Given the description of an element on the screen output the (x, y) to click on. 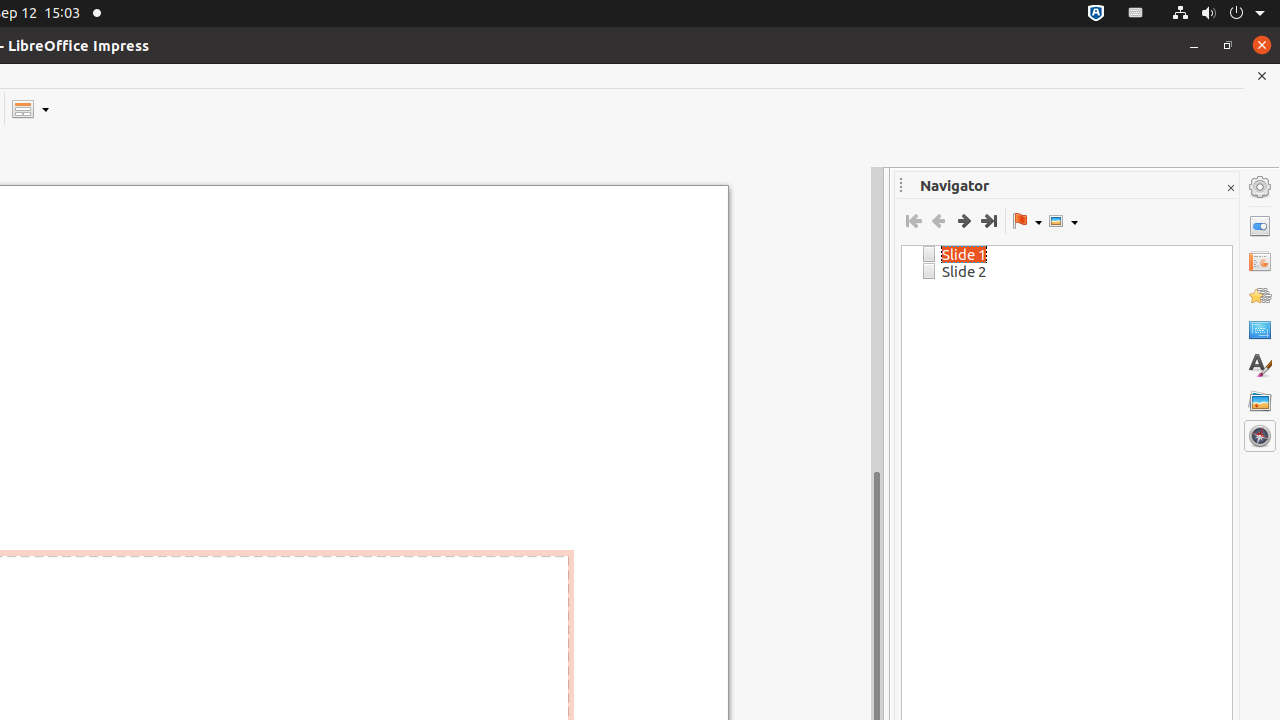
Close Sidebar Deck Element type: push-button (1230, 188)
First Slide Element type: push-button (913, 221)
